Given the description of an element on the screen output the (x, y) to click on. 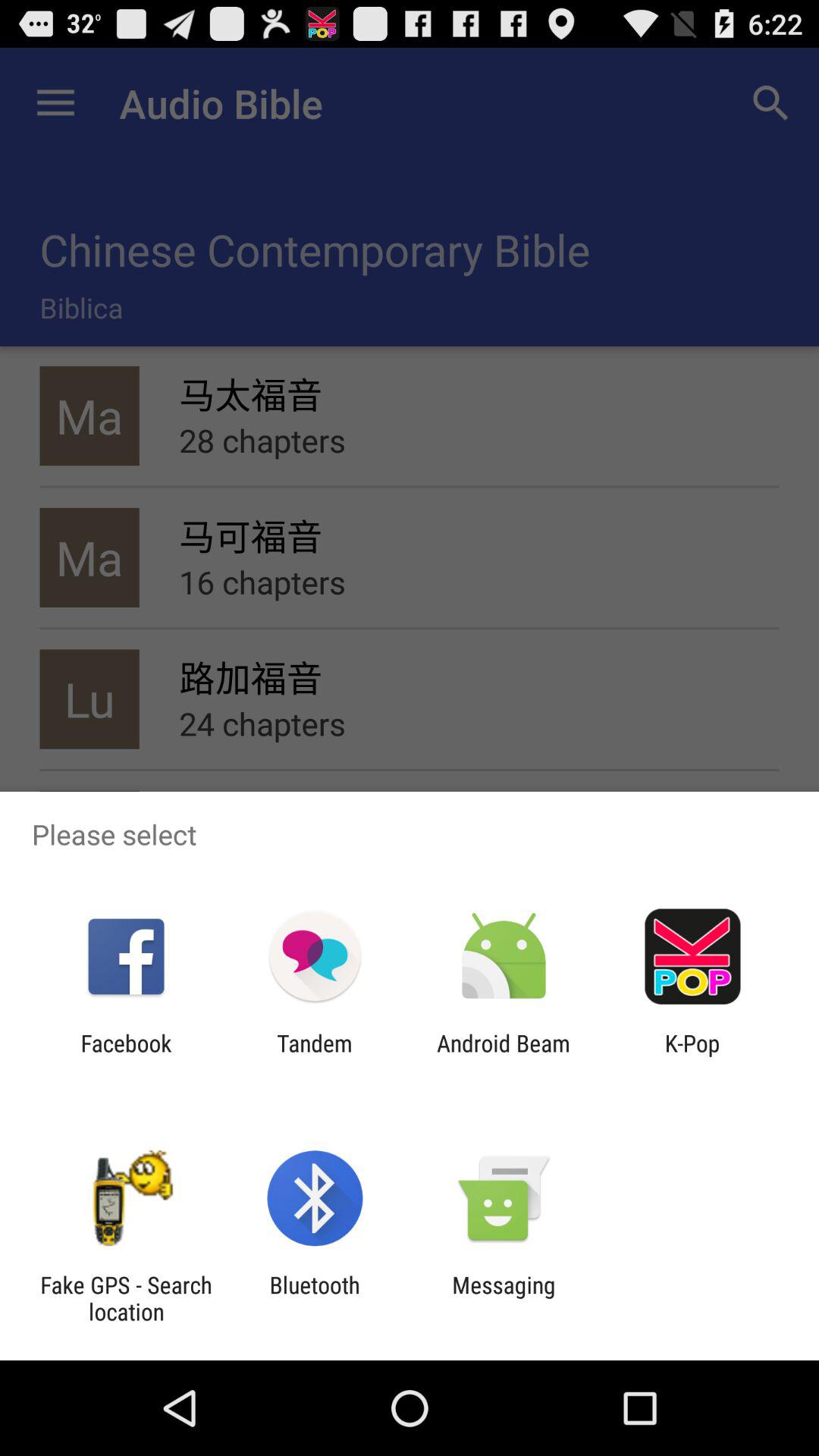
launch the app to the left of k-pop (503, 1056)
